Given the description of an element on the screen output the (x, y) to click on. 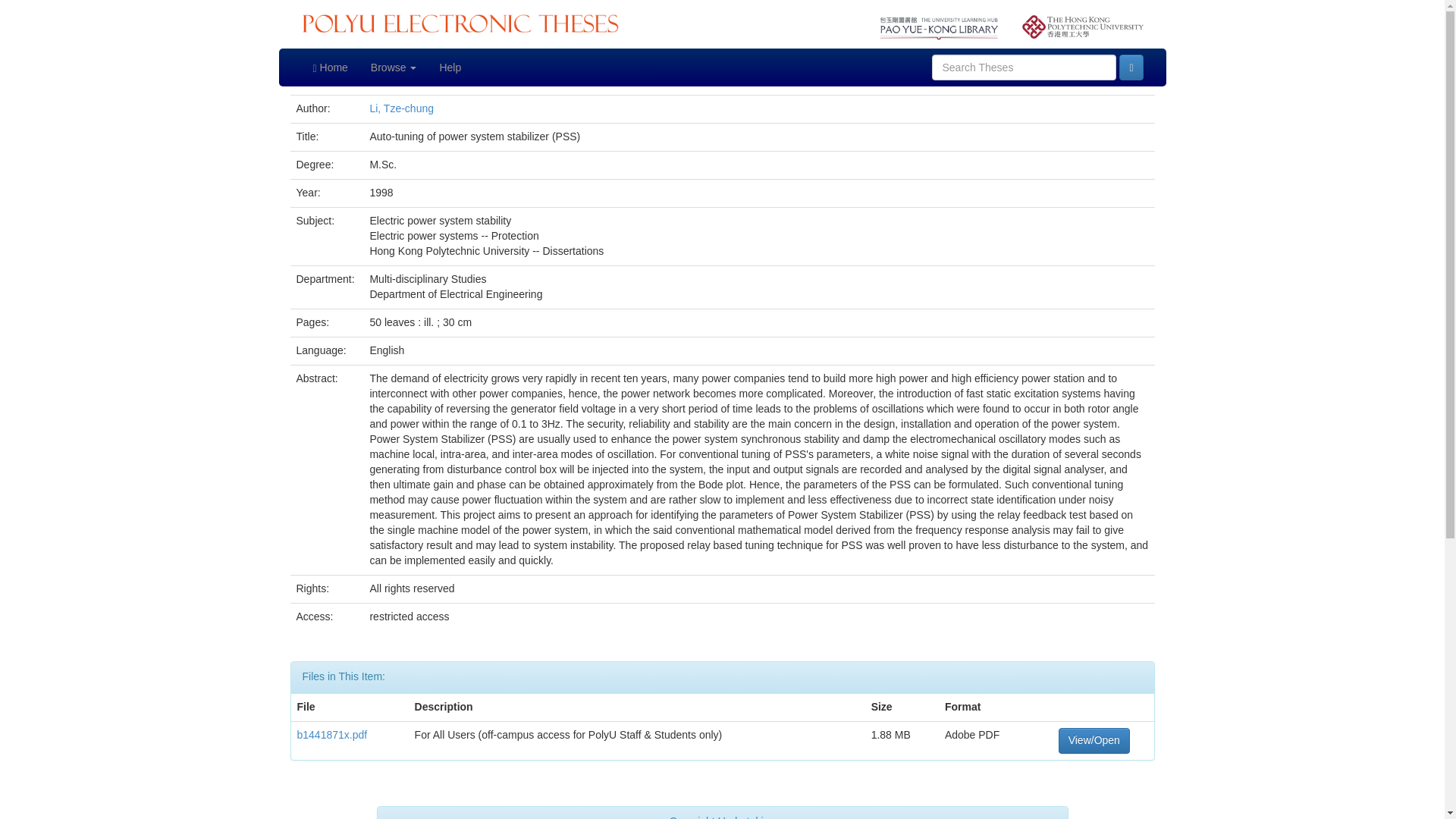
b1441871x.pdf (332, 734)
Home (330, 67)
Help (449, 67)
Li, Tze-chung (401, 108)
Browse (393, 67)
